Given the description of an element on the screen output the (x, y) to click on. 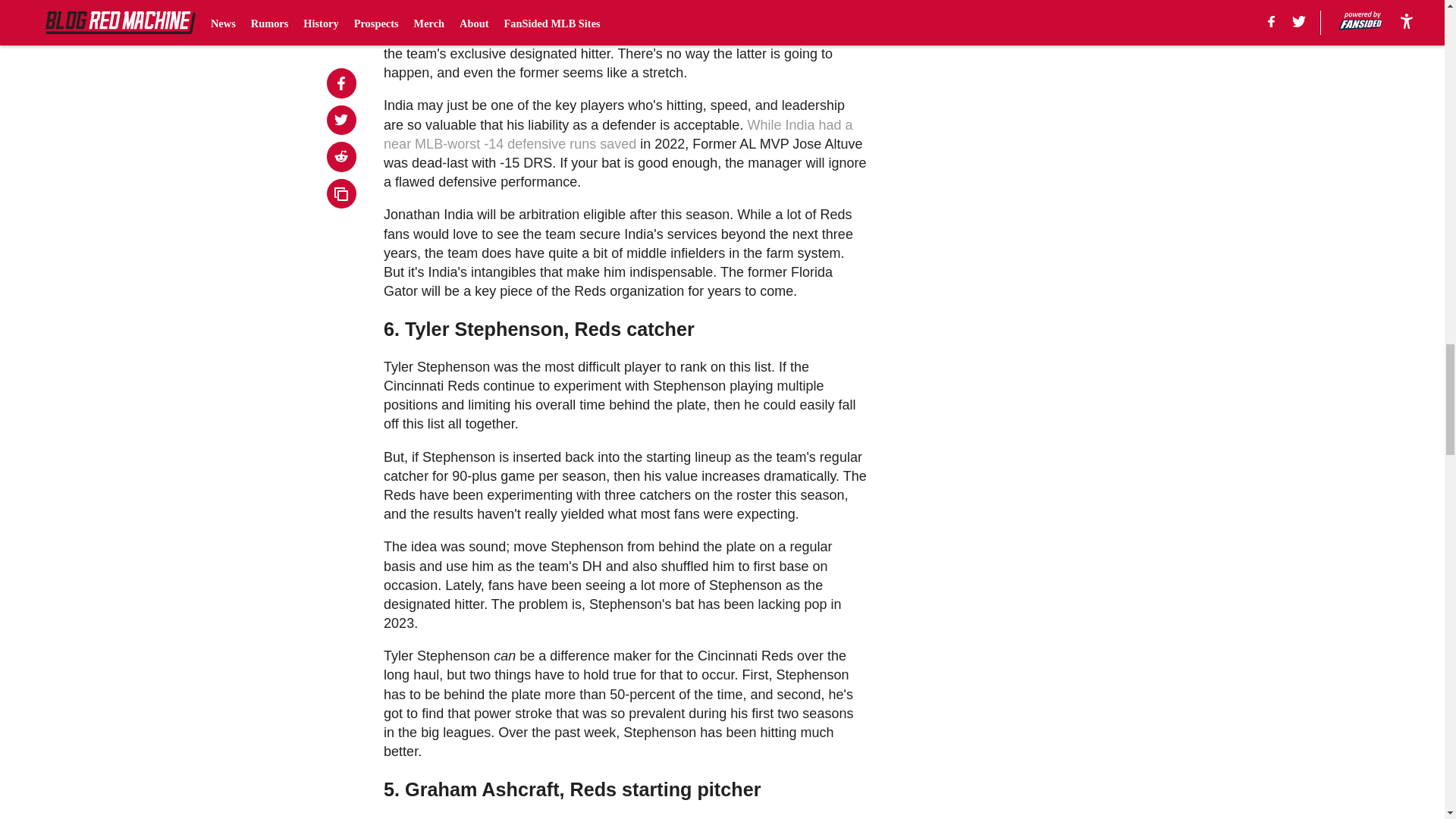
While India had a near MLB-worst -14 defensive runs saved (617, 134)
